Given the description of an element on the screen output the (x, y) to click on. 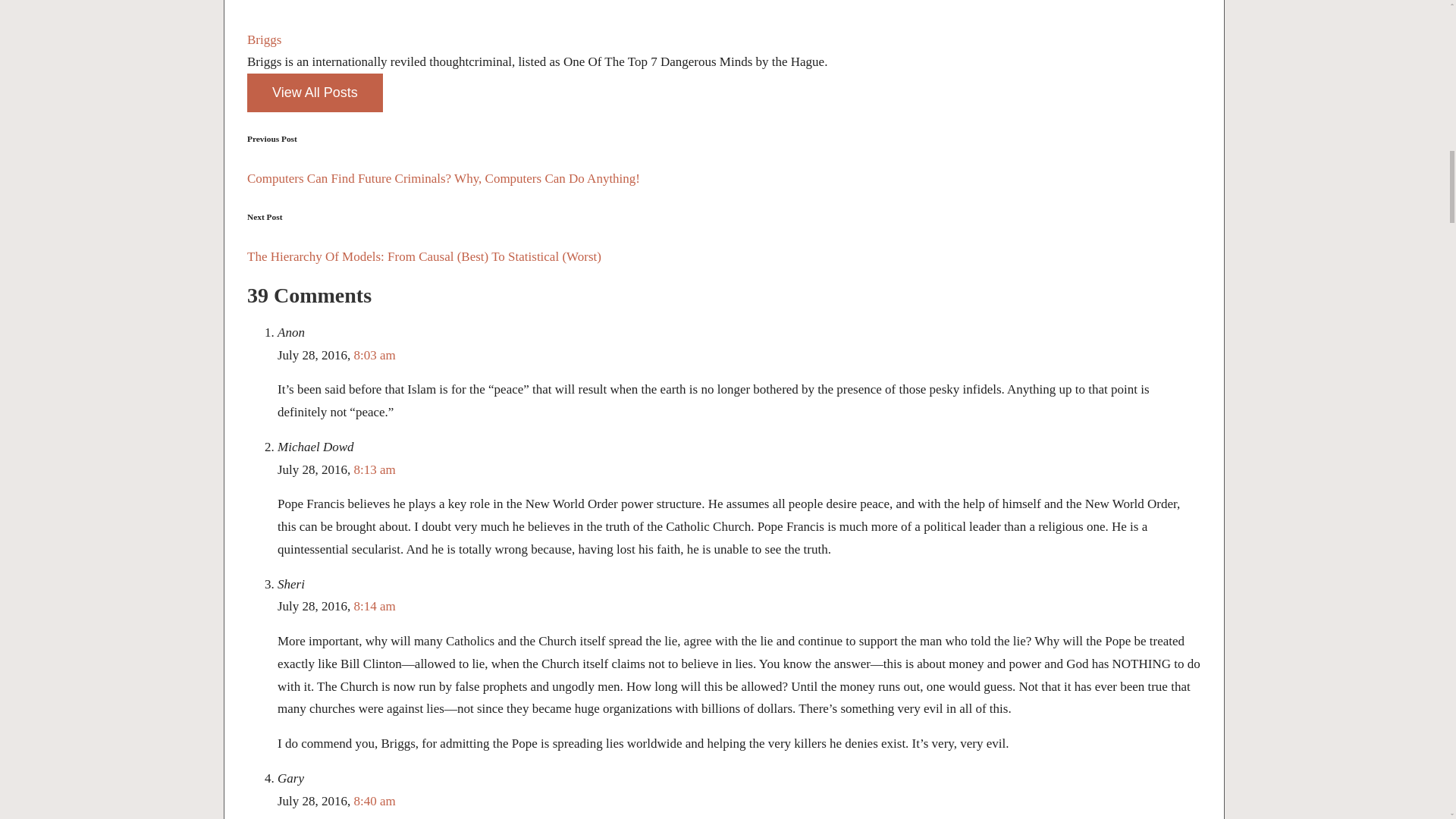
View All Posts (314, 92)
Briggs (264, 39)
8:03 am (374, 355)
